Given the description of an element on the screen output the (x, y) to click on. 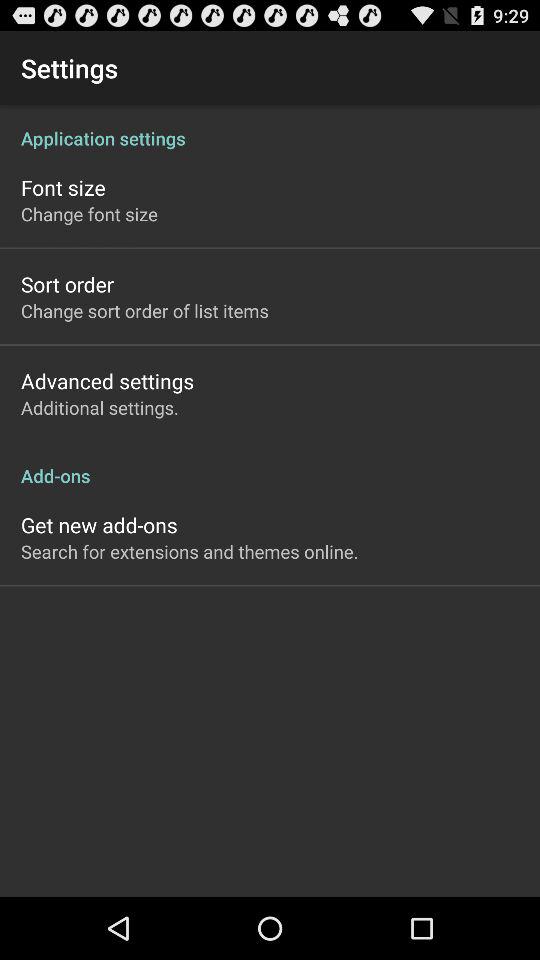
press the item below settings icon (270, 127)
